Given the description of an element on the screen output the (x, y) to click on. 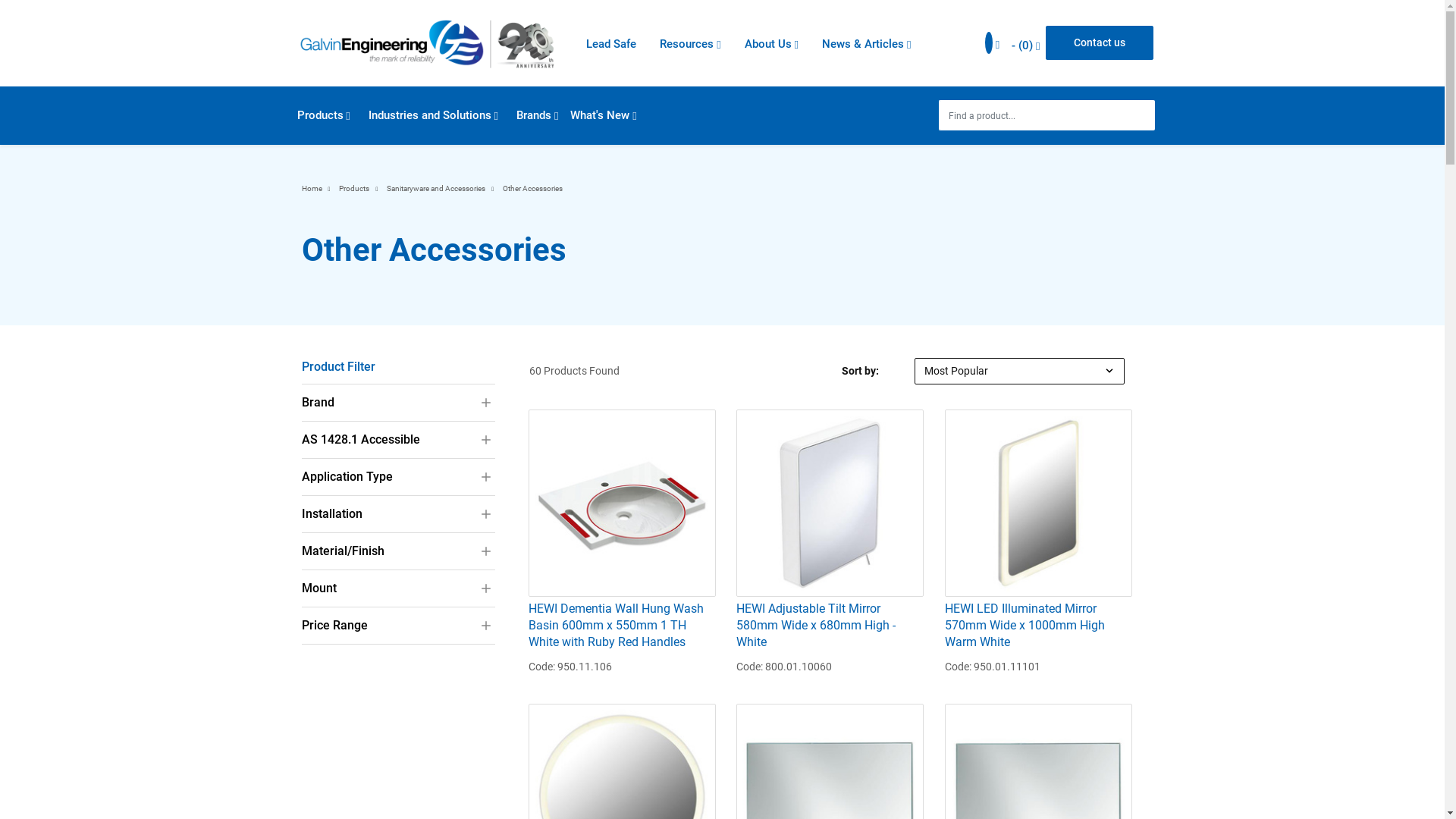
Search Element type: text (1141, 115)
About Us Element type: text (771, 44)
What's New Element type: text (603, 115)
Application Type Element type: text (398, 476)
HEWI Adjustable Tilt Mirror 580mm Wide x 680mm High - White Element type: text (829, 625)
Price Range Element type: text (398, 625)
Installation Element type: text (398, 514)
AS 1428.1 Accessible Element type: text (398, 439)
Other Accessories Element type: text (532, 188)
Products Element type: text (353, 188)
Brand Element type: text (398, 402)
Product Filter Element type: text (390, 366)
Skip to main content Element type: text (0, 0)
Galvin Engineering Element type: hover (425, 43)
Home Element type: text (311, 188)
- (0) Element type: text (1025, 44)
Lead Safe Element type: text (614, 43)
Mount Element type: text (398, 588)
News & Articles Element type: text (865, 44)
Material/Finish Element type: text (398, 551)
Contact us Element type: text (1099, 42)
Resources Element type: text (689, 44)
Sanitaryware and Accessories Element type: text (435, 188)
Products Element type: text (323, 115)
Industries and Solutions Element type: text (433, 115)
Brands Element type: text (537, 115)
